Given the description of an element on the screen output the (x, y) to click on. 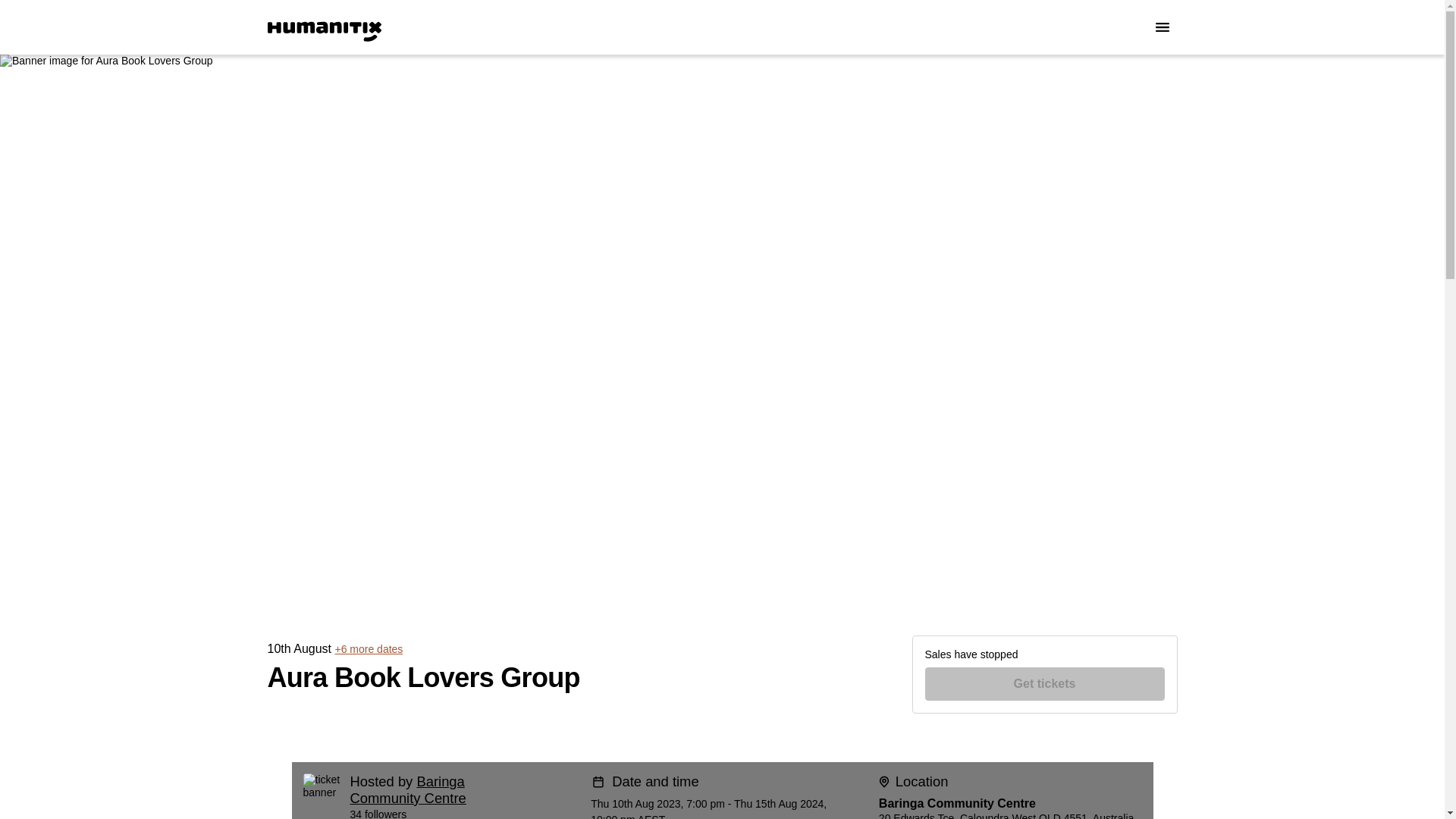
Skip to Content (18, 18)
Get tickets (1044, 684)
Baringa Community Centre (407, 789)
